Given the description of an element on the screen output the (x, y) to click on. 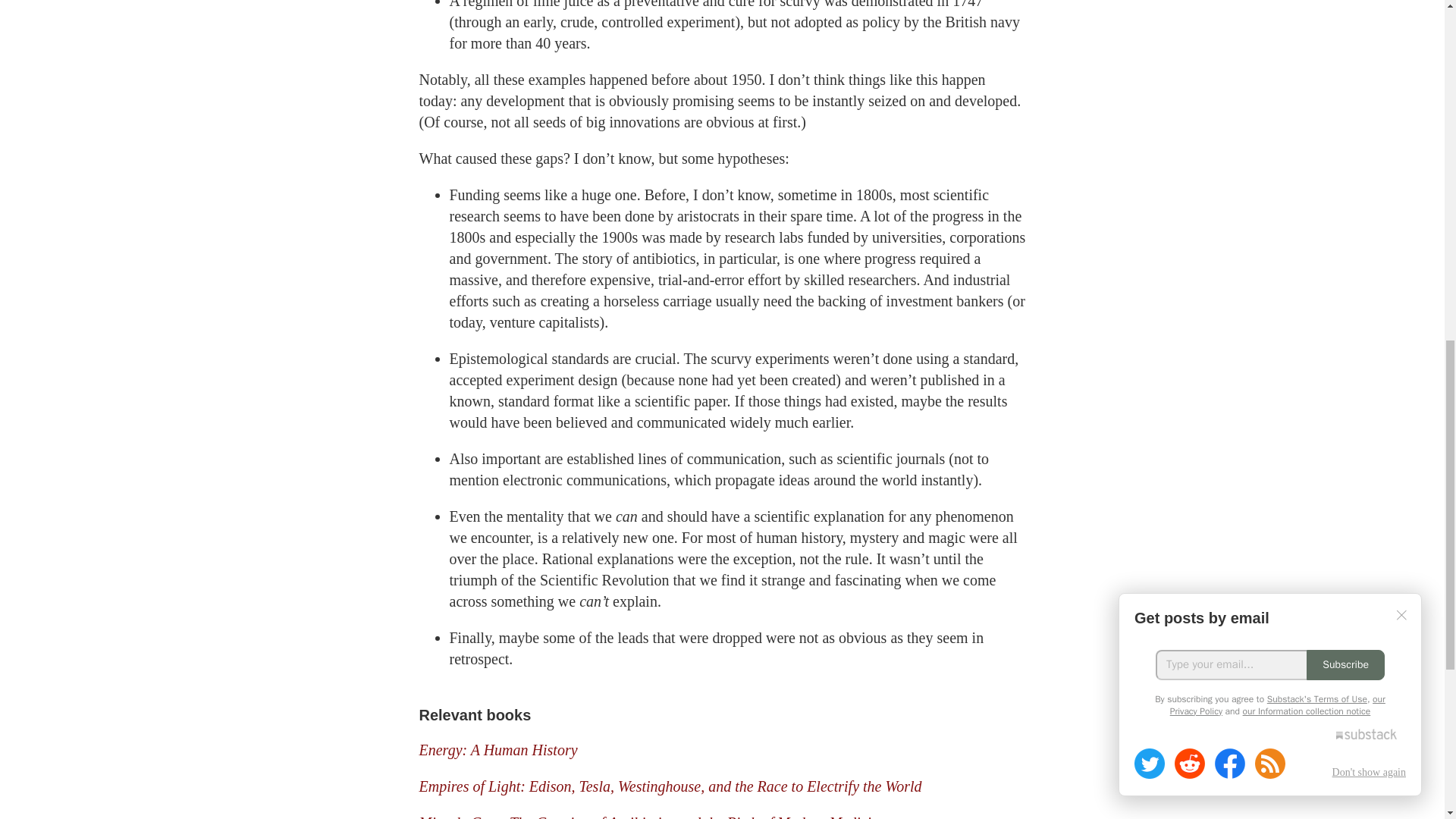
Energy: A Human History (497, 750)
